Given the description of an element on the screen output the (x, y) to click on. 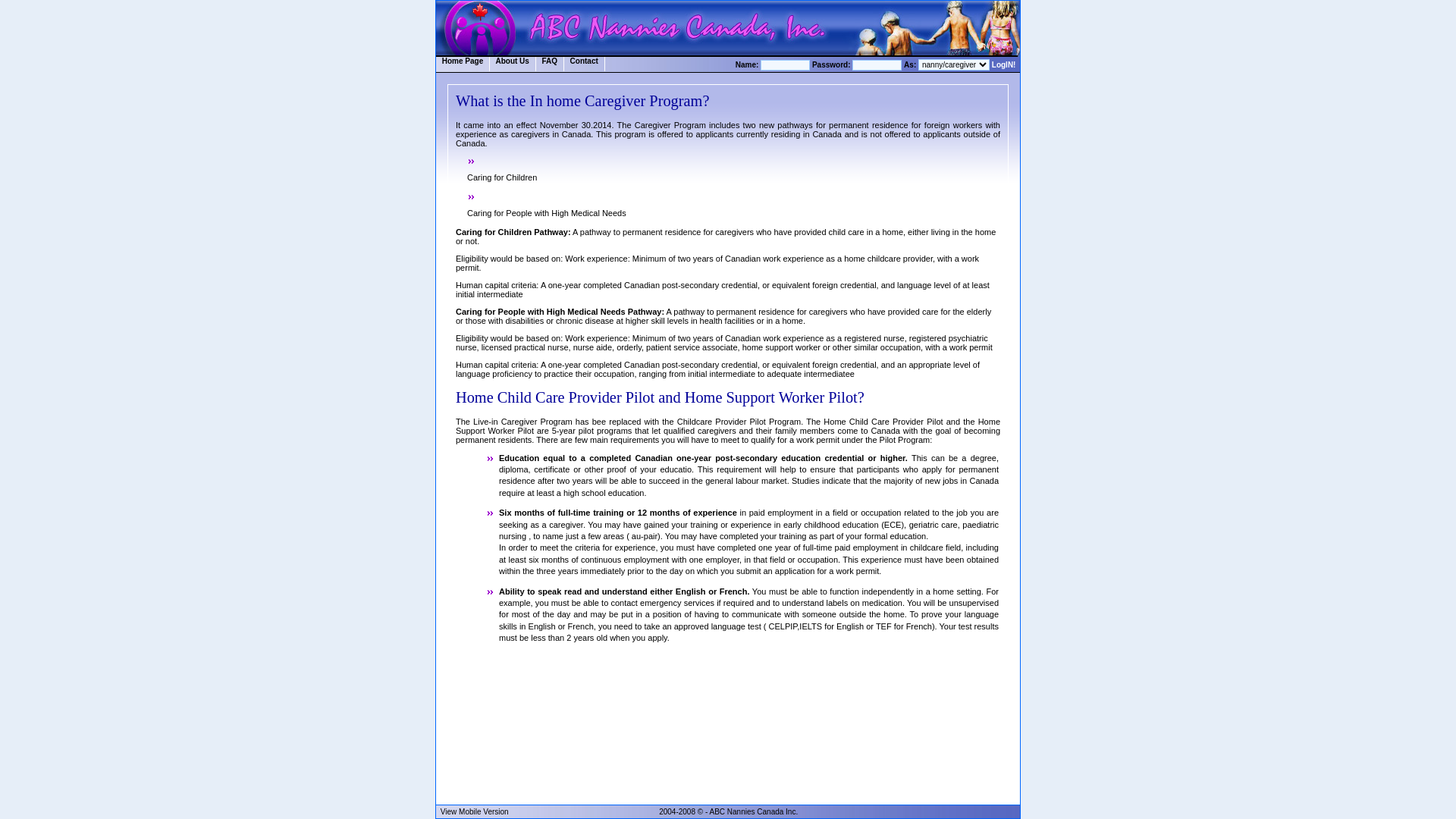
LogIN! Element type: text (1003, 64)
 About Us  Element type: text (512, 63)
 Home Page  Element type: text (462, 63)
View Mobile Version Element type: text (474, 811)
 Contact  Element type: text (584, 63)
 FAQ  Element type: text (550, 63)
